Given the description of an element on the screen output the (x, y) to click on. 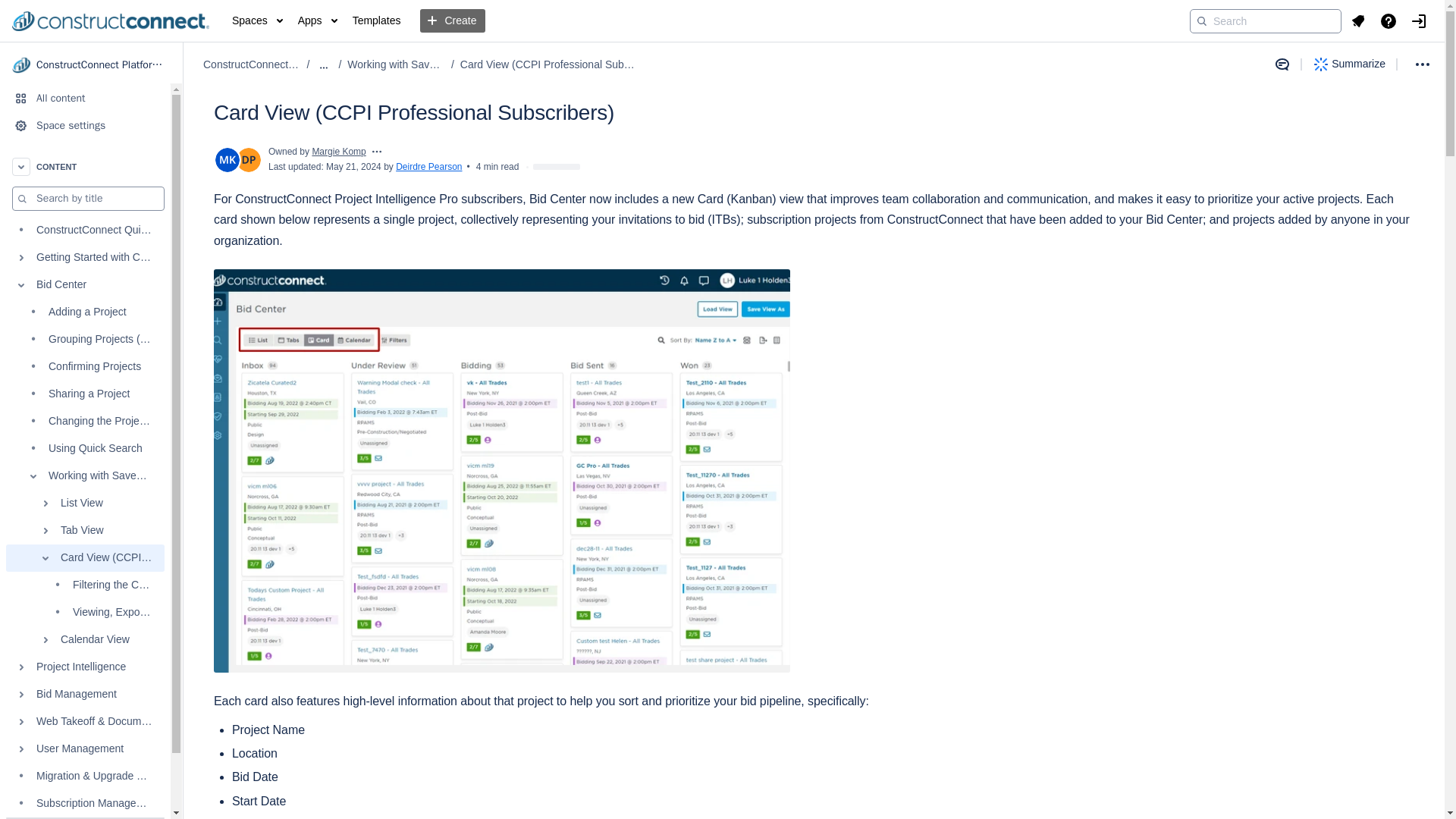
Calendar View (84, 639)
Create (452, 21)
List View (84, 502)
Spaces (256, 21)
Getting Started with ConstructConnect (84, 257)
Bid Center (84, 284)
Tab View (84, 530)
All content (84, 98)
Apps (318, 21)
Project Intelligence (84, 666)
